Given the description of an element on the screen output the (x, y) to click on. 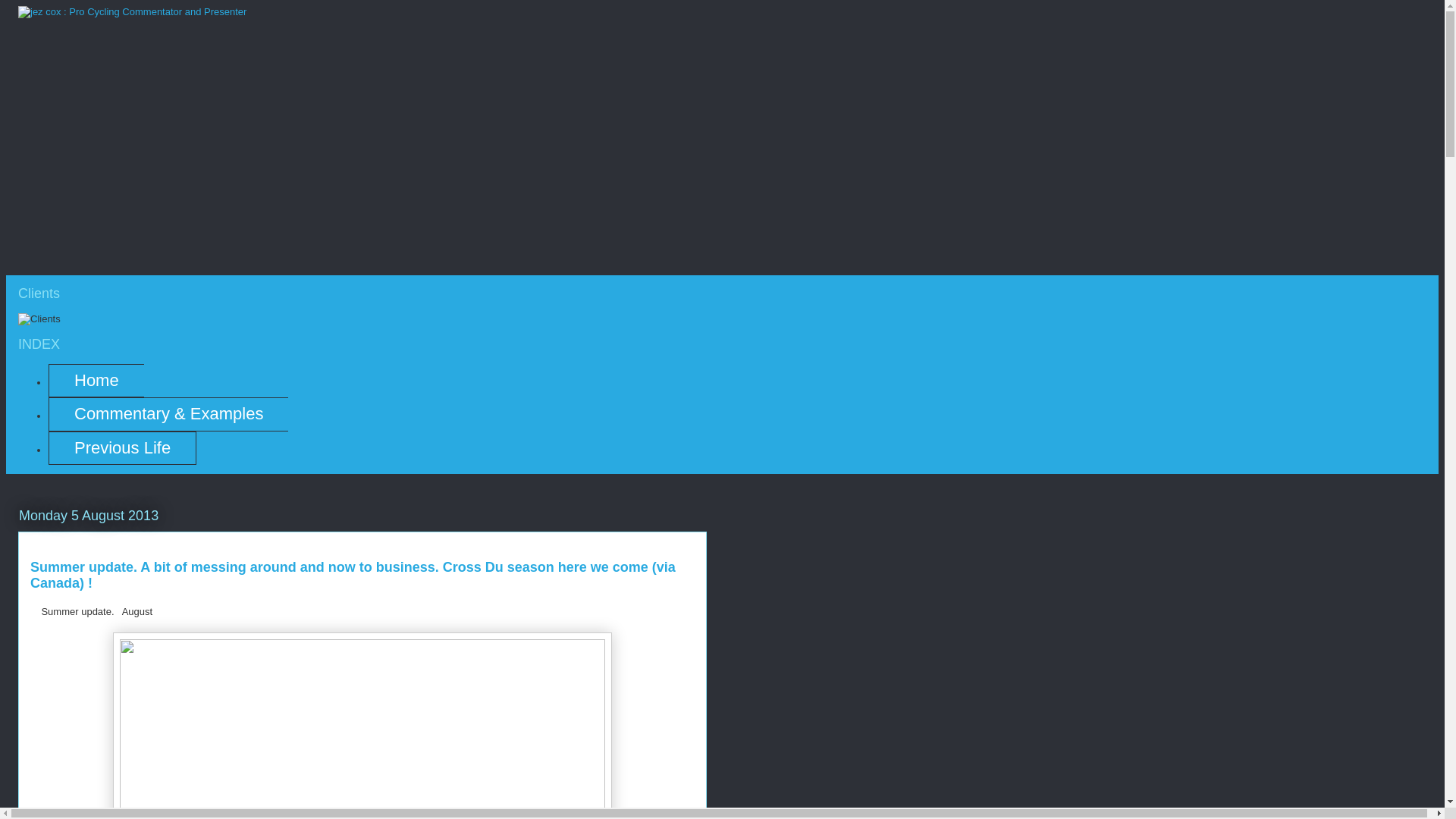
Previous Life (122, 447)
Home (96, 380)
